Given the description of an element on the screen output the (x, y) to click on. 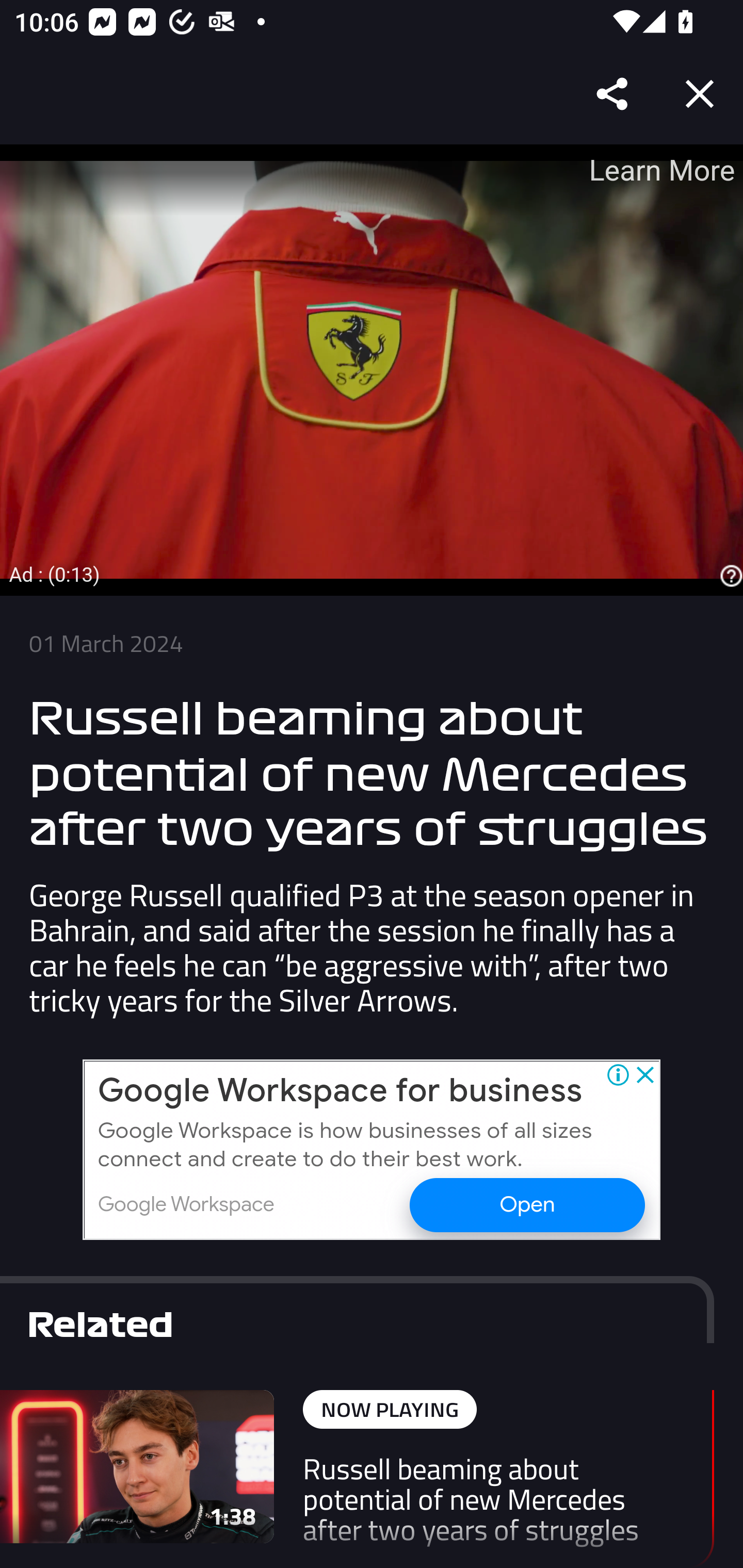
Share (612, 93)
Close (699, 93)
Learn More (660, 170)
Ad : (0:13) (54, 573)
help_outline_white_24dp_with_3px_trbl_padding (728, 576)
Google Workspace for business (340, 1090)
Open (526, 1204)
Google Workspace (186, 1204)
